Given the description of an element on the screen output the (x, y) to click on. 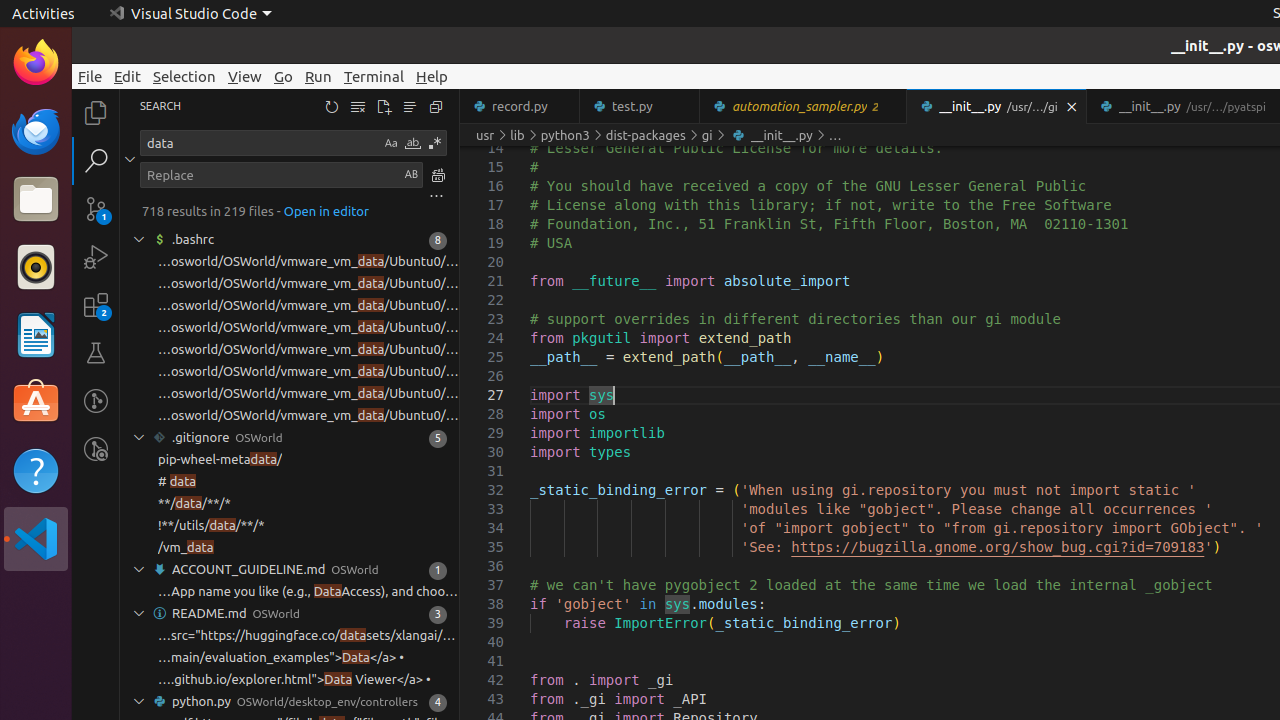
Testing Element type: page-tab (96, 353)
3 matches in file README.md of folder OSWorld, Search result Element type: tree-item (289, 613)
Run and Debug (Ctrl+Shift+D) Element type: page-tab (96, 257)
' VM_PATH="/home/PJLAB/luyi1/osworld/OSWorld/vmware_vm_data/Ubuntu0/Ubuntu0.vmx"' at column 58 found data Element type: tree-item (289, 415)
